Given the description of an element on the screen output the (x, y) to click on. 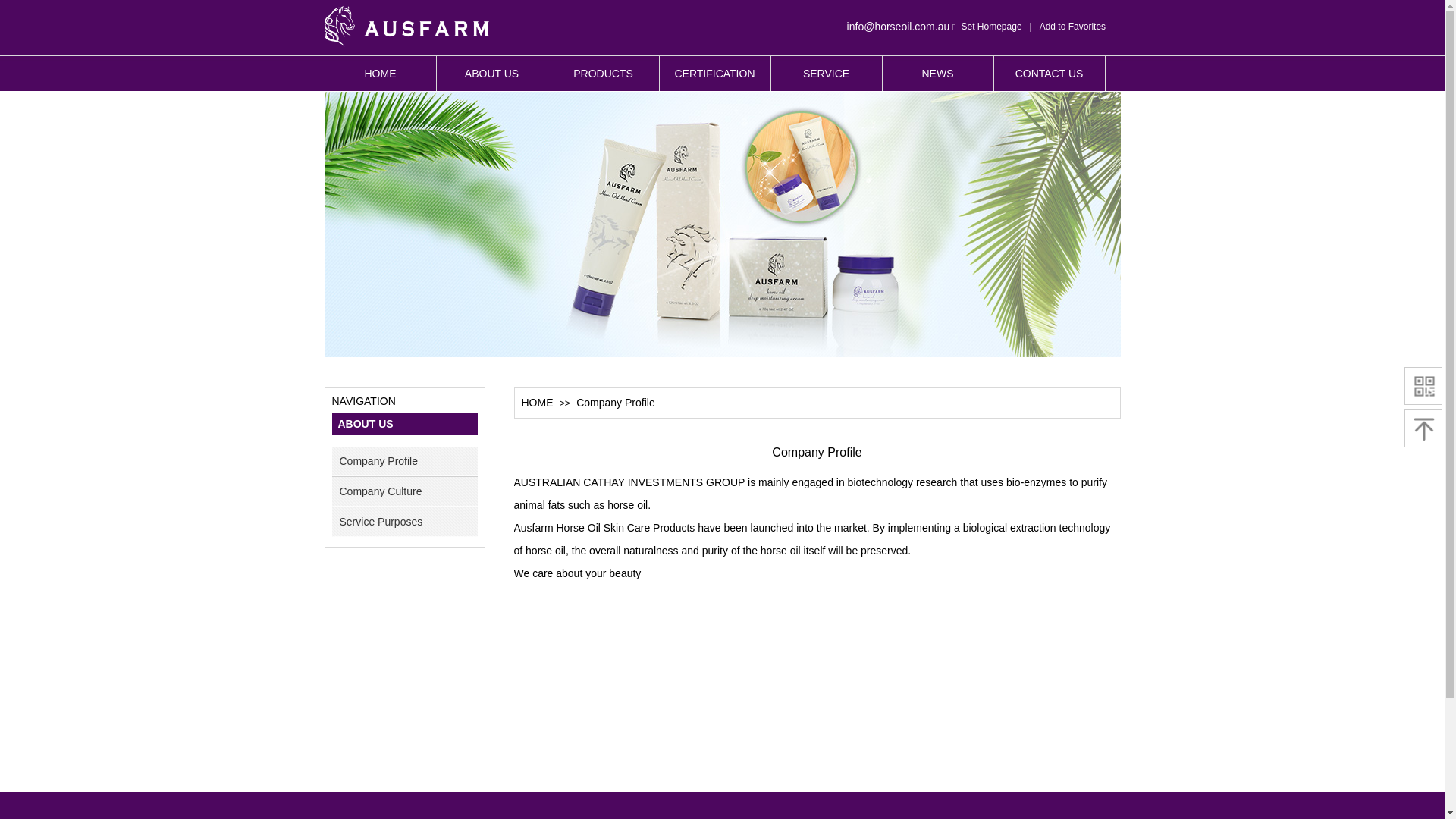
CONTACT US Element type: text (1048, 73)
NEWS Element type: text (937, 73)
HOME Element type: text (379, 73)
Company Profile Element type: text (406, 461)
Set Homepage Element type: text (991, 26)
Service Purposes Element type: text (406, 521)
Add to Favorites Element type: text (1072, 26)
HOME Element type: text (537, 402)
Company Profile Element type: text (615, 402)
CERTIFICATION Element type: text (714, 73)
Company Culture Element type: text (406, 491)
SERVICE Element type: text (825, 73)
ABOUT US Element type: text (491, 73)
PRODUCTS Element type: text (602, 73)
